Given the description of an element on the screen output the (x, y) to click on. 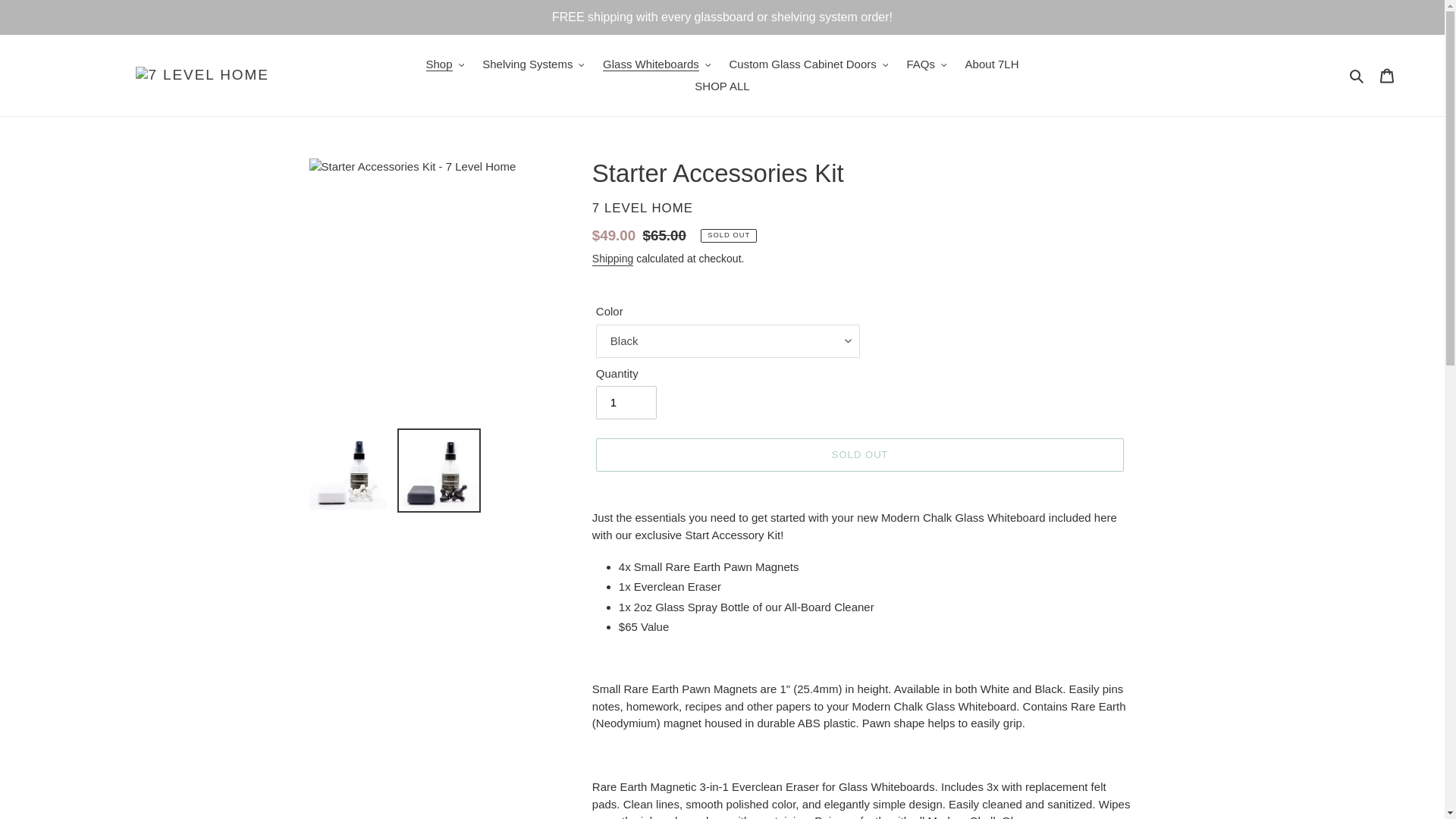
Shop (445, 65)
1 (625, 402)
Shelving Systems (533, 65)
